Given the description of an element on the screen output the (x, y) to click on. 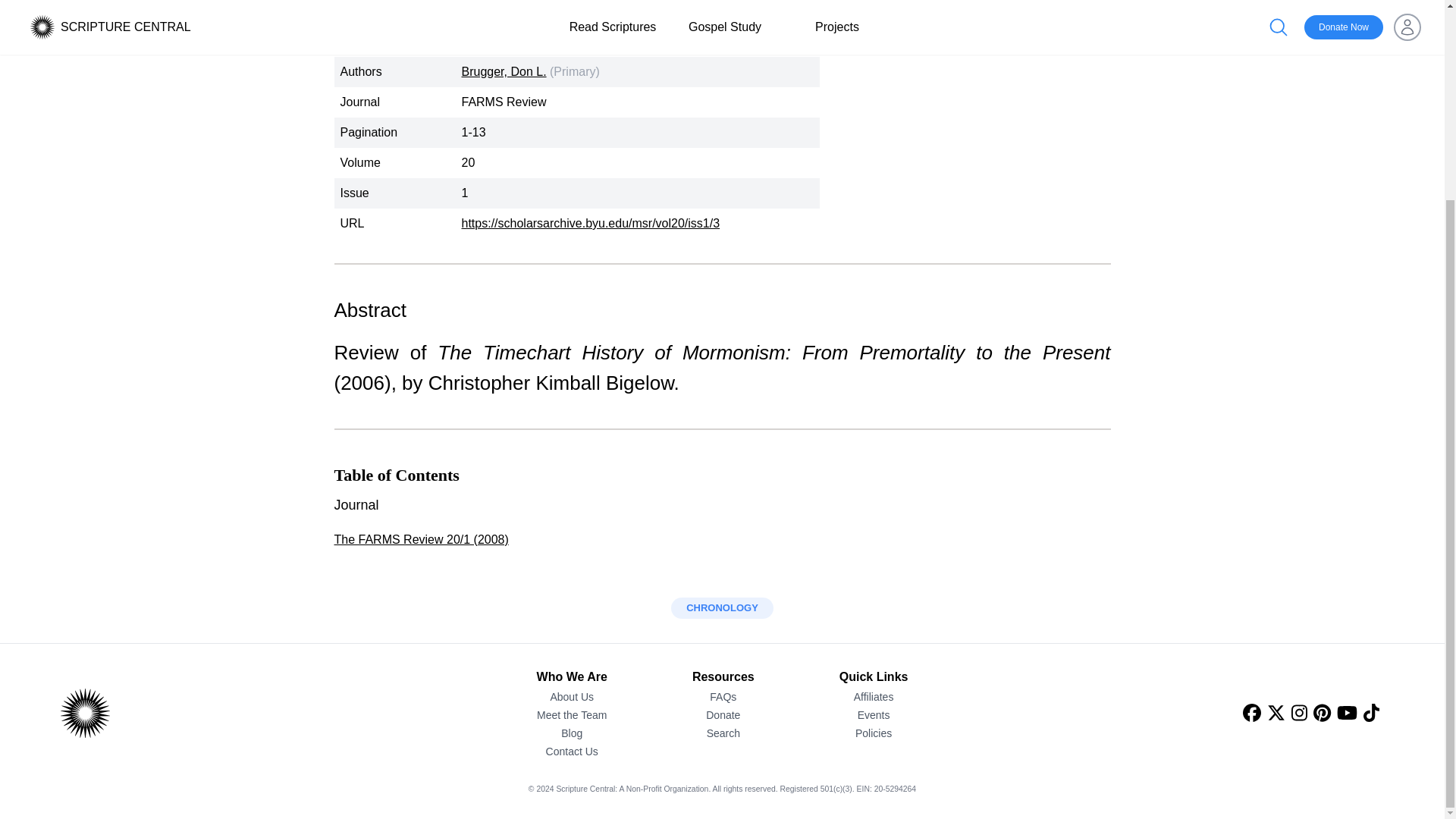
Contact Us (572, 751)
FAQs (723, 696)
About Us (572, 696)
Brugger, Don L. (503, 71)
Policies (873, 733)
Meet the Team (572, 714)
Events (873, 714)
Affiliates (873, 696)
Blog (571, 733)
Search (722, 733)
Donate (722, 714)
